Given the description of an element on the screen output the (x, y) to click on. 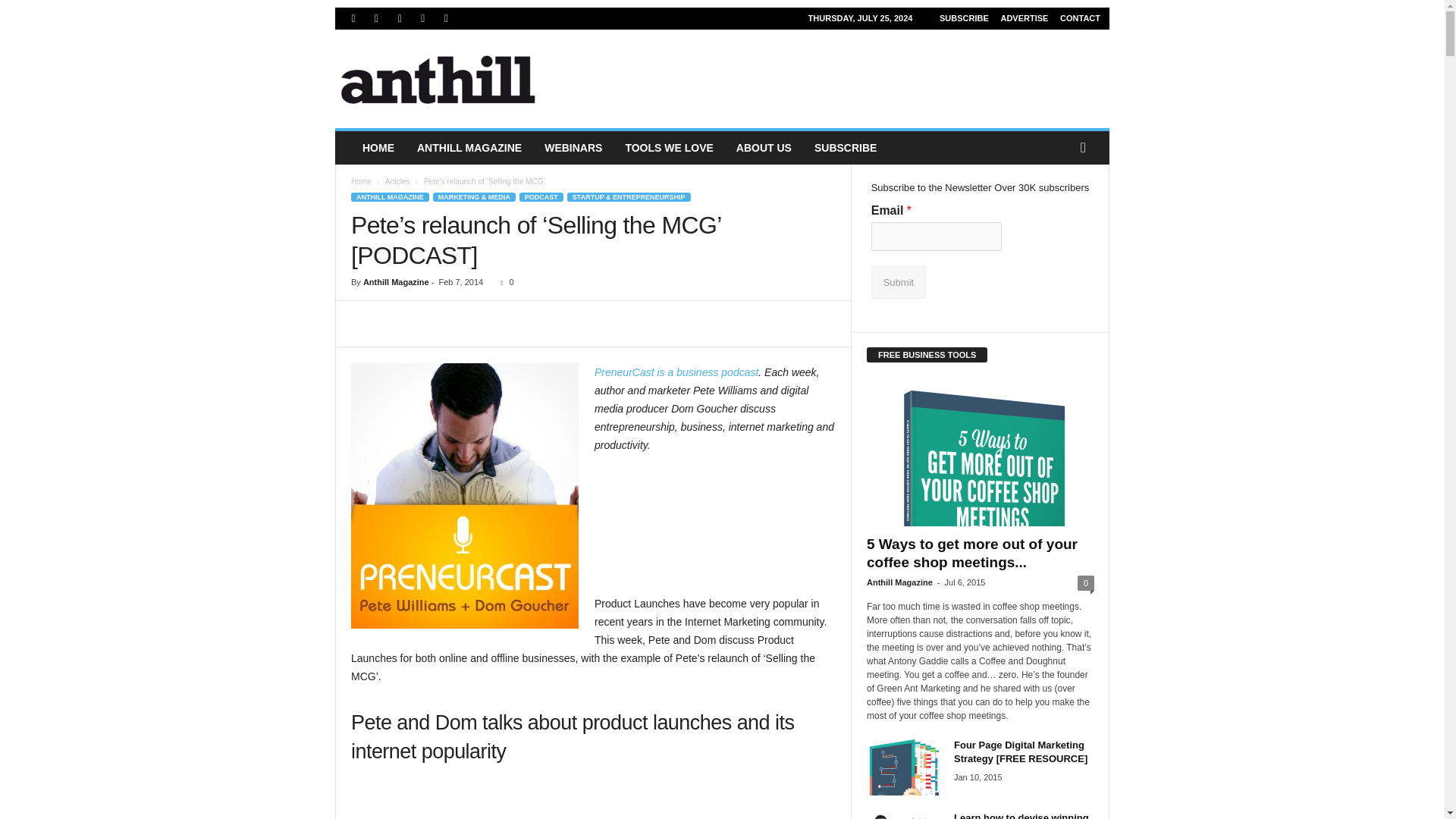
SUBSCRIBE (963, 17)
Twitter (445, 18)
View all posts in Articles (397, 181)
Linkedin (399, 18)
CONTACT (1079, 17)
Facebook (352, 18)
Pinterest (422, 18)
ADVERTISE (1024, 17)
Instagram (376, 18)
